Given the description of an element on the screen output the (x, y) to click on. 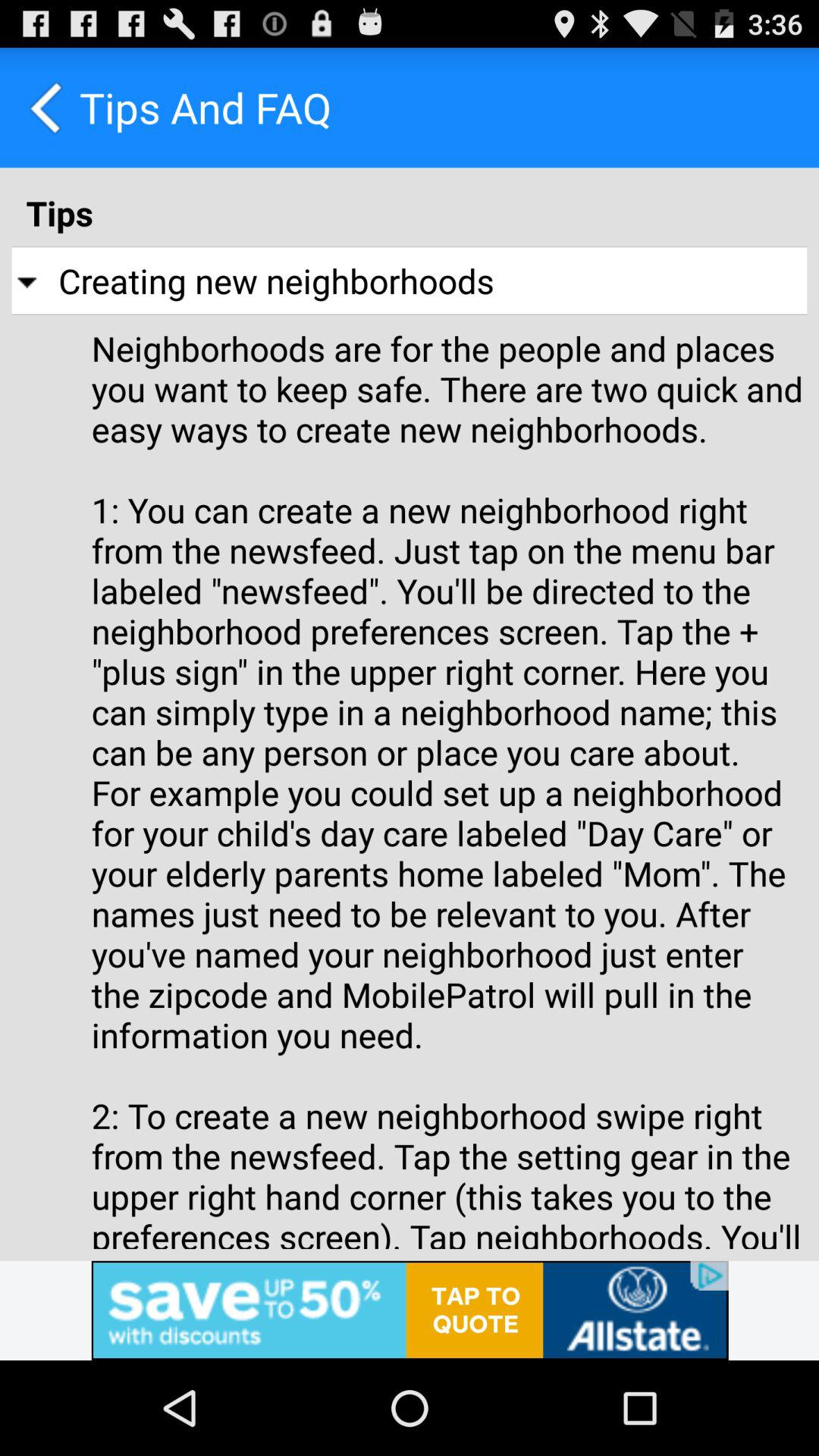
advisement (409, 1310)
